Given the description of an element on the screen output the (x, y) to click on. 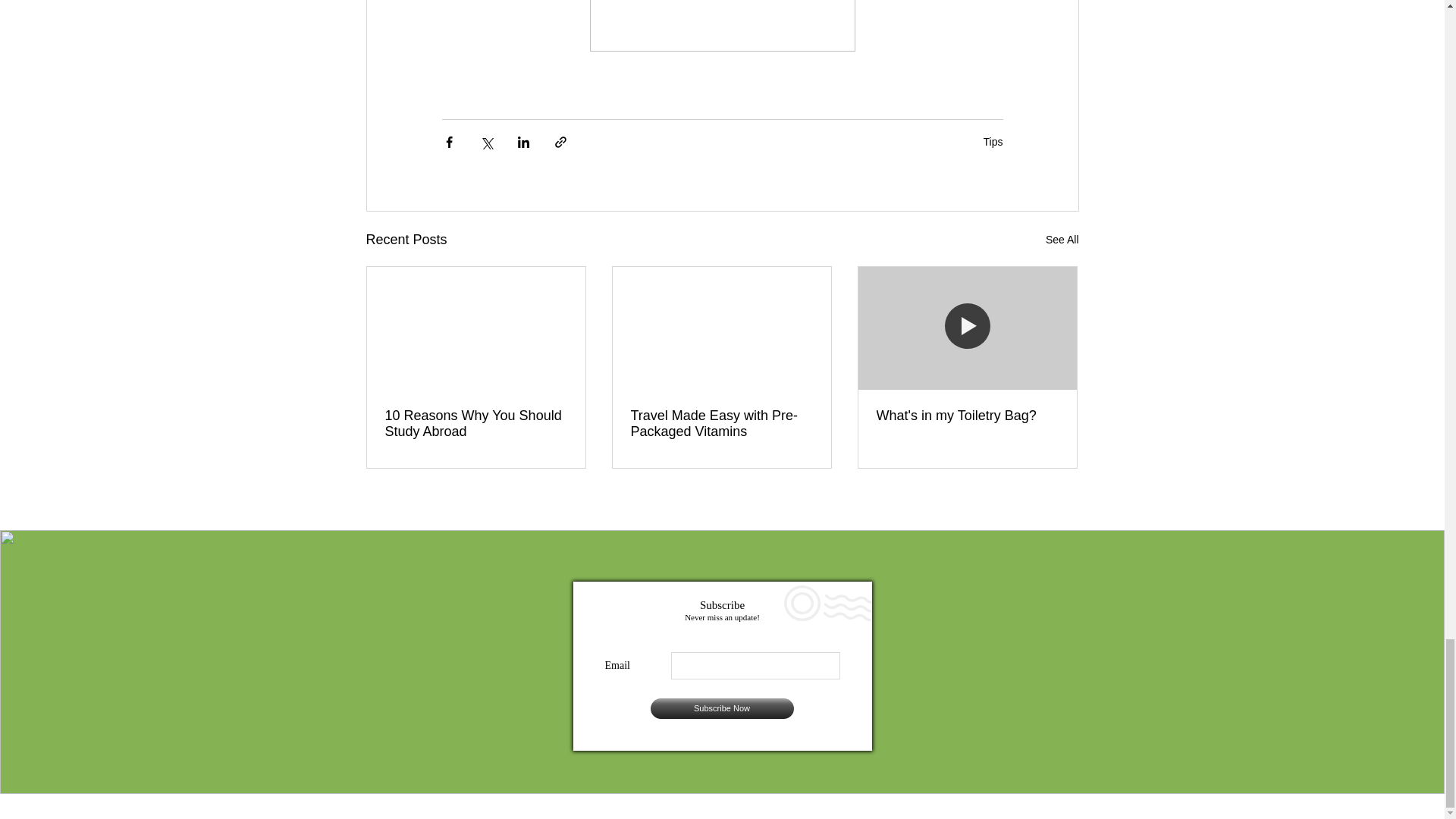
Tips (993, 141)
10 Reasons Why You Should Study Abroad (476, 423)
See All (1061, 239)
What's in my Toiletry Bag? (967, 415)
Travel Made Easy with Pre-Packaged Vitamins (721, 423)
Subscribe Now (721, 708)
